Given the description of an element on the screen output the (x, y) to click on. 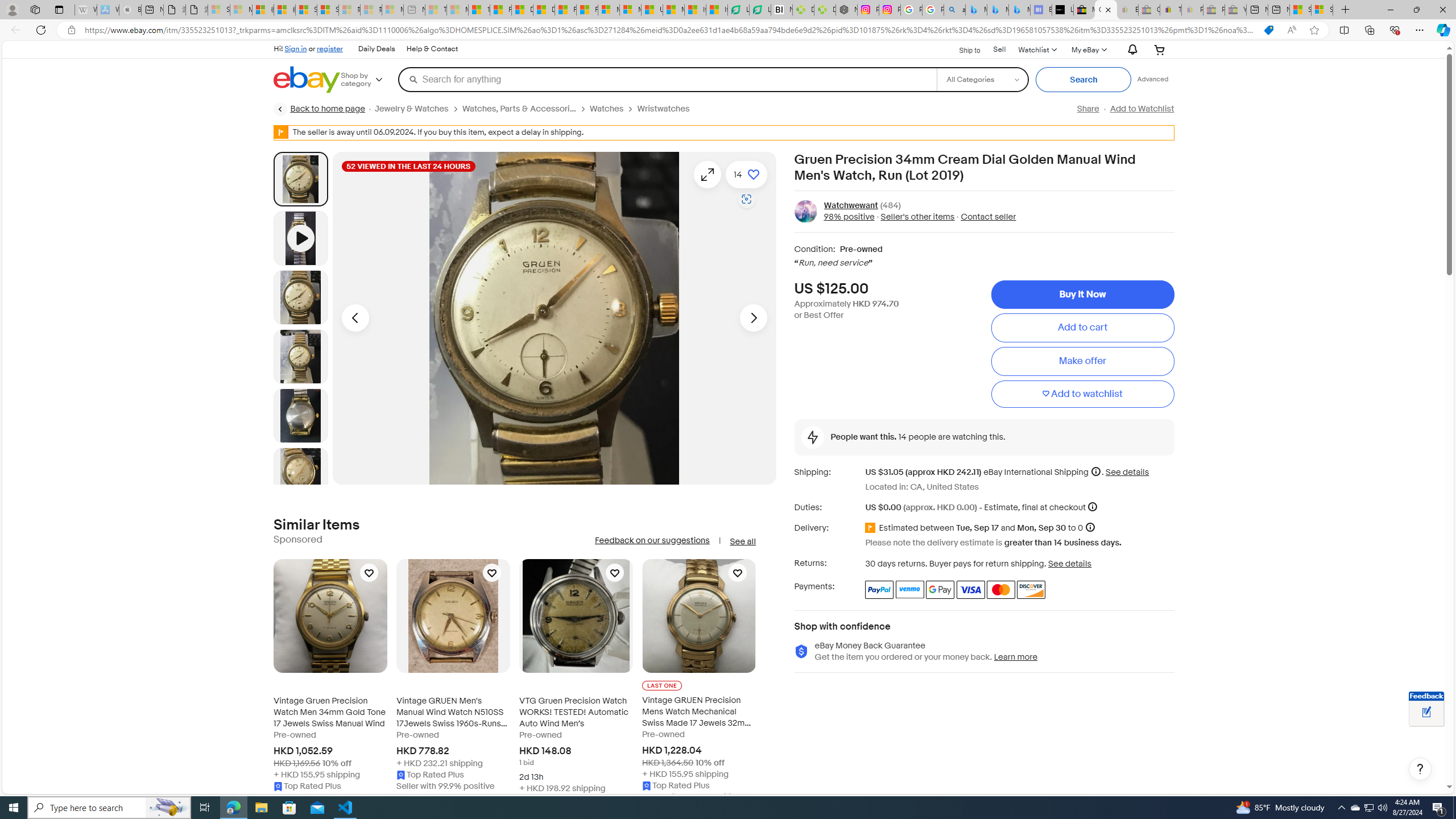
98% positive (849, 216)
My eBayExpand My eBay (1088, 49)
Picture 5 of 13 (300, 474)
More information (1092, 506)
Marine life - MSN - Sleeping (457, 9)
Threats and offensive language policy | eBay (1170, 9)
(484) (890, 205)
Make offer (1082, 361)
Add to watchlist - 14 watchers (746, 174)
